Given the description of an element on the screen output the (x, y) to click on. 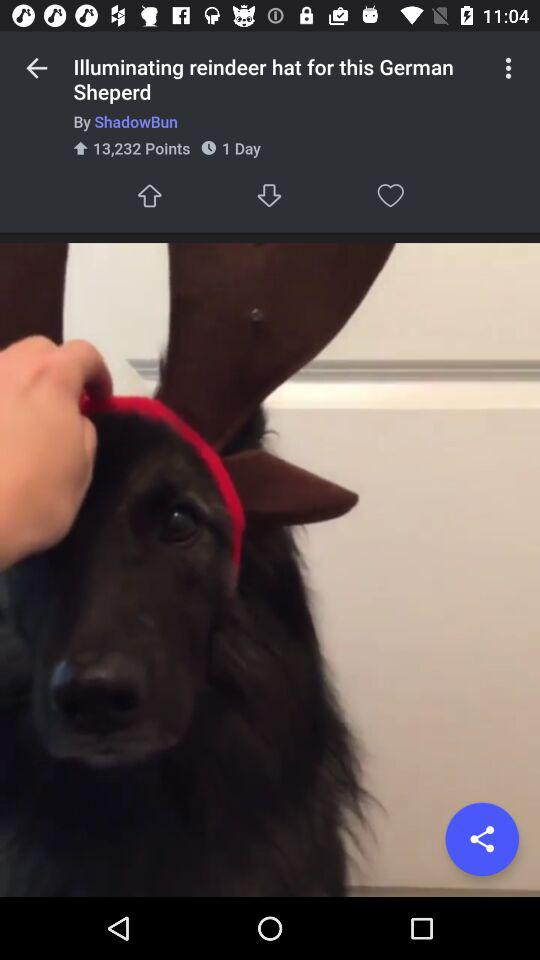
click item below the 13,231 points item (149, 195)
